Given the description of an element on the screen output the (x, y) to click on. 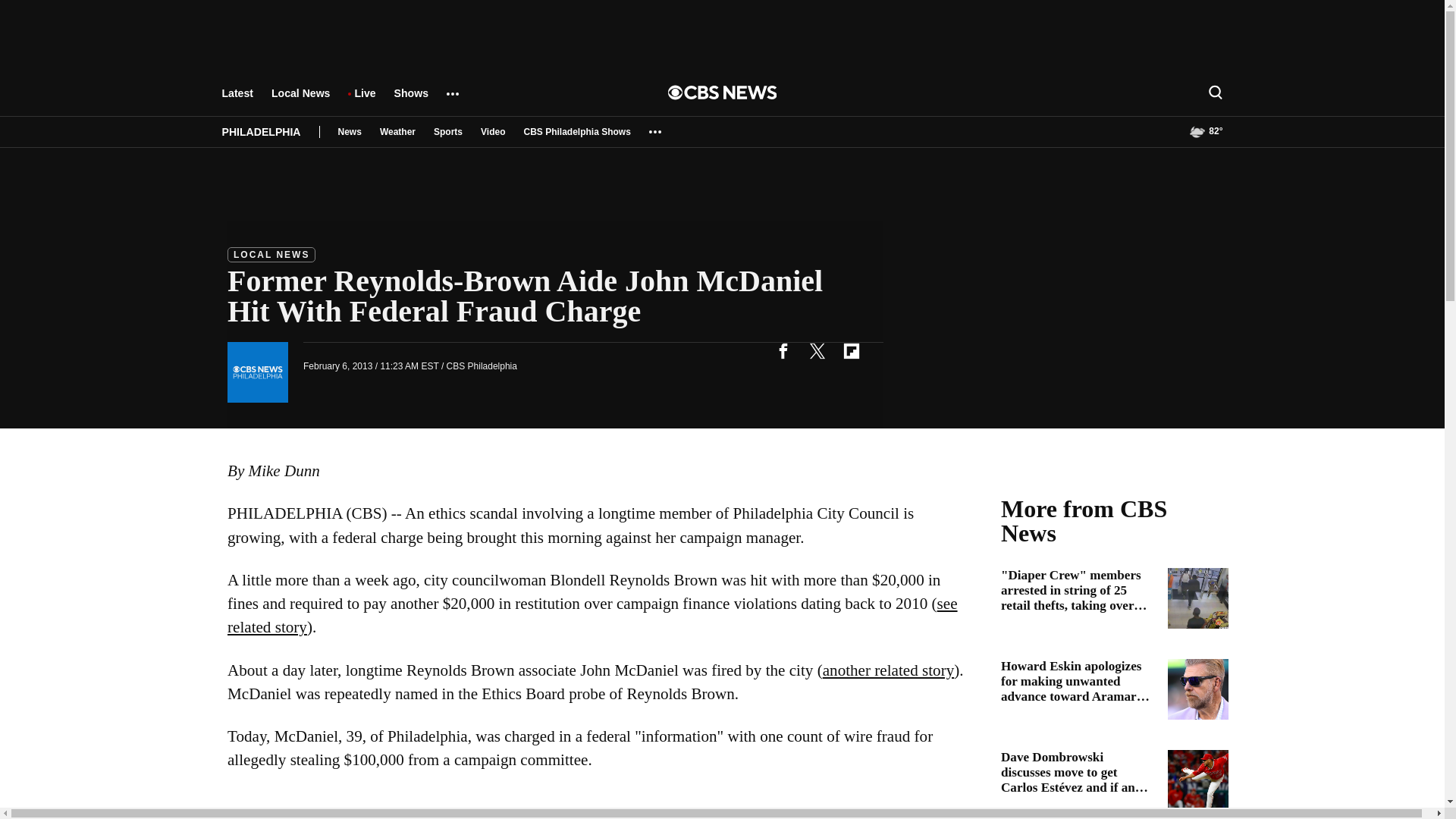
twitter (816, 350)
Latest (236, 100)
facebook (782, 350)
Local News (300, 100)
flipboard (850, 350)
